Given the description of an element on the screen output the (x, y) to click on. 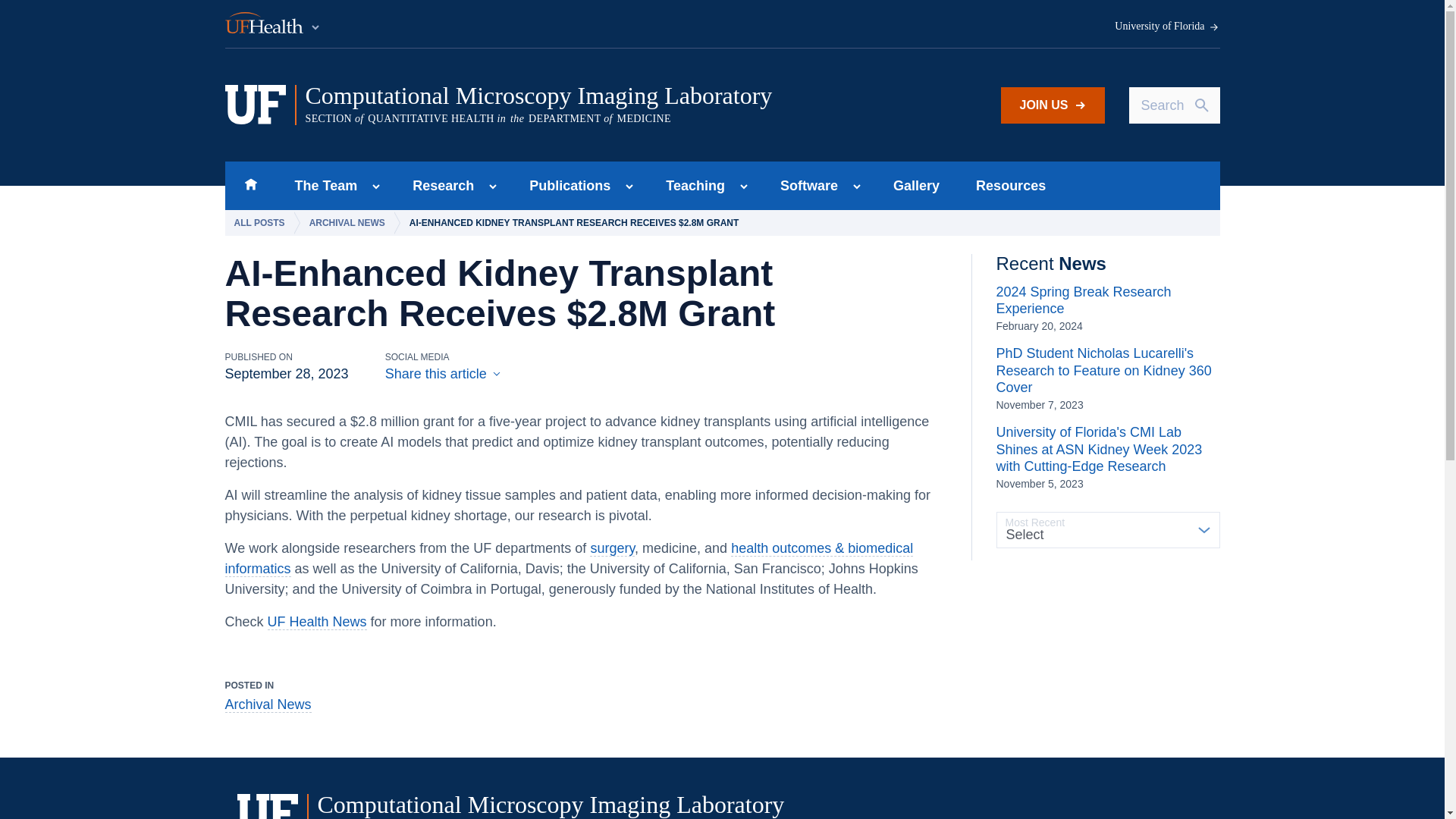
UF Health (272, 24)
Publications (565, 185)
The Team (321, 185)
University of Florida (1167, 26)
JOIN US (1052, 104)
Research (438, 185)
Home (250, 185)
